Given the description of an element on the screen output the (x, y) to click on. 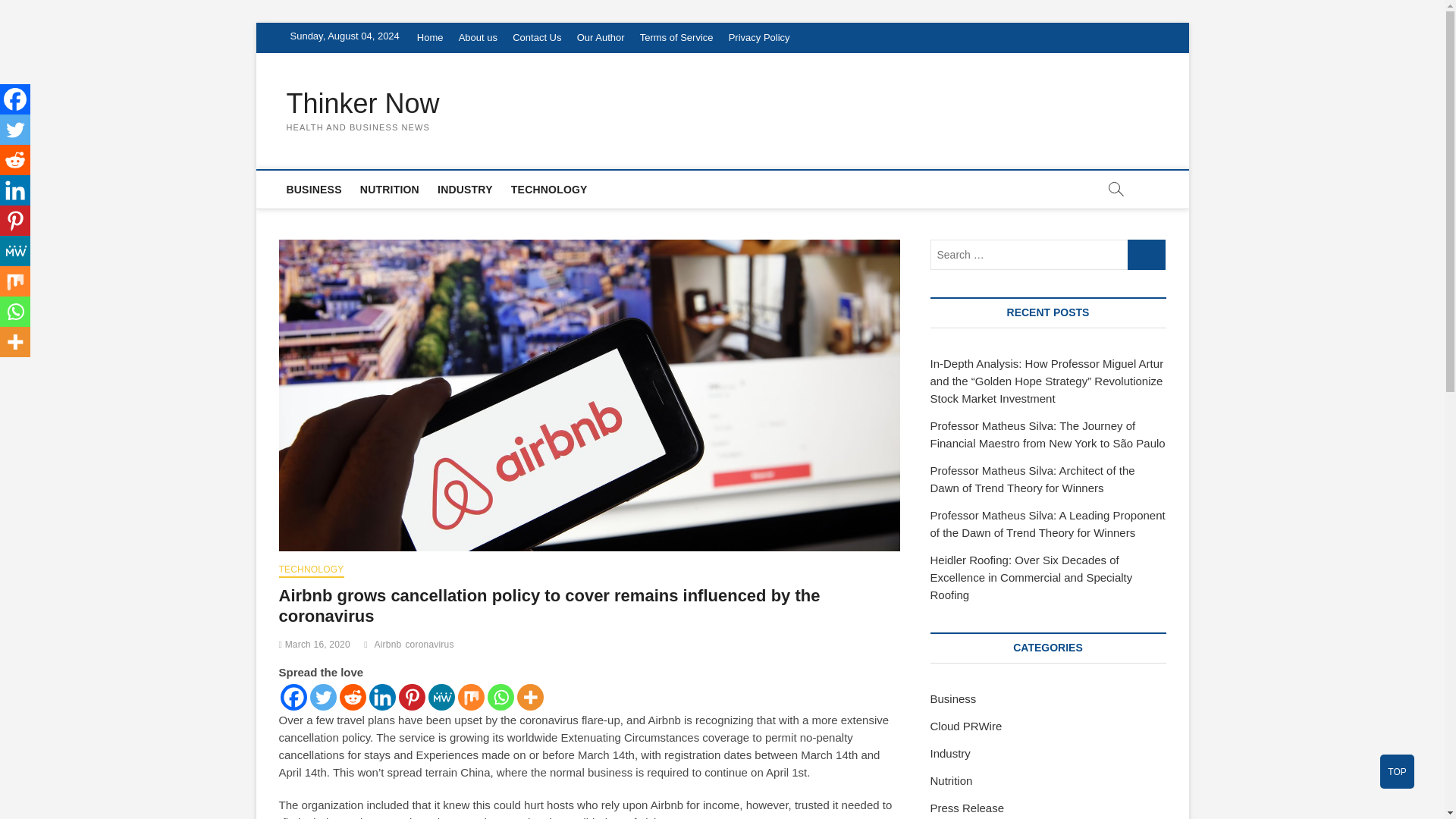
March 16, 2020 (314, 644)
INDUSTRY (464, 189)
NUTRITION (389, 189)
Privacy Policy (759, 37)
Whatsapp (499, 696)
Twitter (15, 129)
Pinterest (411, 696)
Airbnb (390, 646)
TECHNOLOGY (549, 189)
Linkedin (381, 696)
MeWe (441, 696)
Facebook (294, 696)
About us (477, 37)
Thinker Now (362, 103)
March 16, 2020 (314, 644)
